Given the description of an element on the screen output the (x, y) to click on. 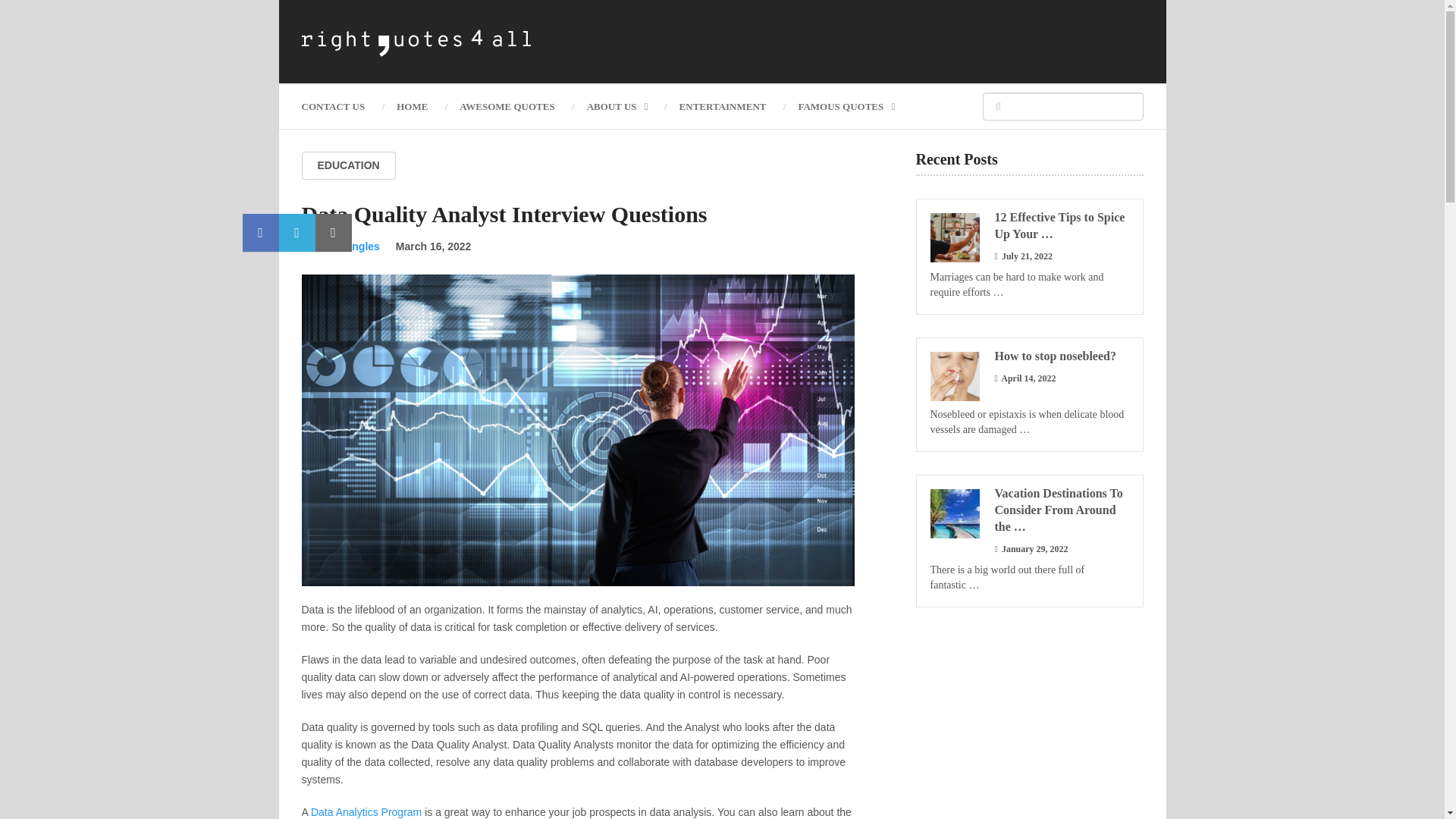
FAMOUS QUOTES (845, 105)
CONTACT US (341, 105)
Data Analytics Program (366, 811)
ENTERTAINMENT (723, 105)
HOME (412, 105)
Posts by mindmingles (347, 246)
12 Effective Tips to Spice Up Your Marriage (1029, 225)
EDUCATION (348, 165)
AWESOME QUOTES (507, 105)
How to stop nosebleed? (1029, 356)
